Given the description of an element on the screen output the (x, y) to click on. 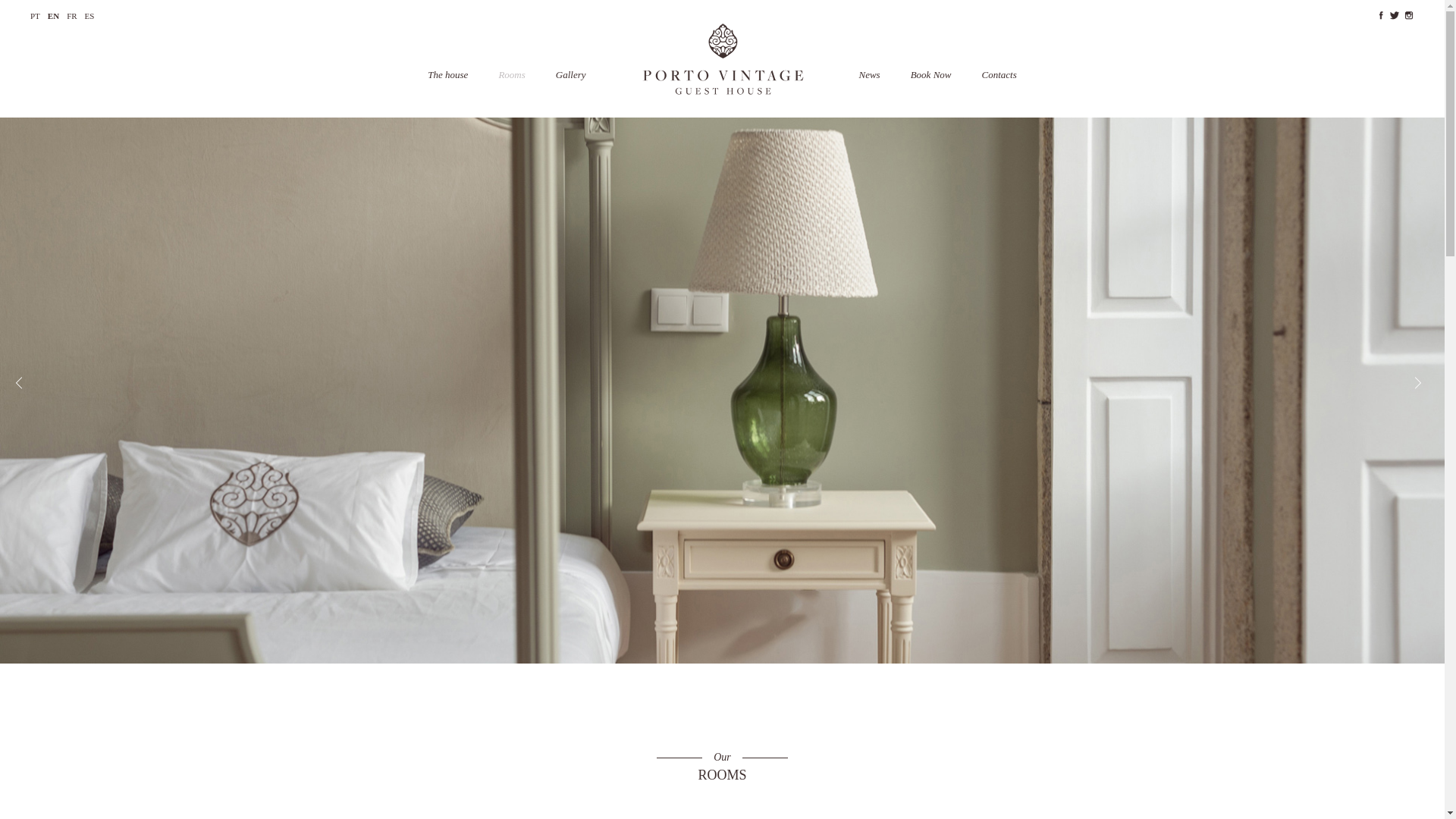
PT (35, 15)
FR (71, 15)
Rooms (510, 74)
News (869, 74)
Gallery (571, 74)
The house (447, 74)
Book Now (931, 74)
ES (89, 15)
Contacts (998, 74)
EN (53, 15)
